Given the description of an element on the screen output the (x, y) to click on. 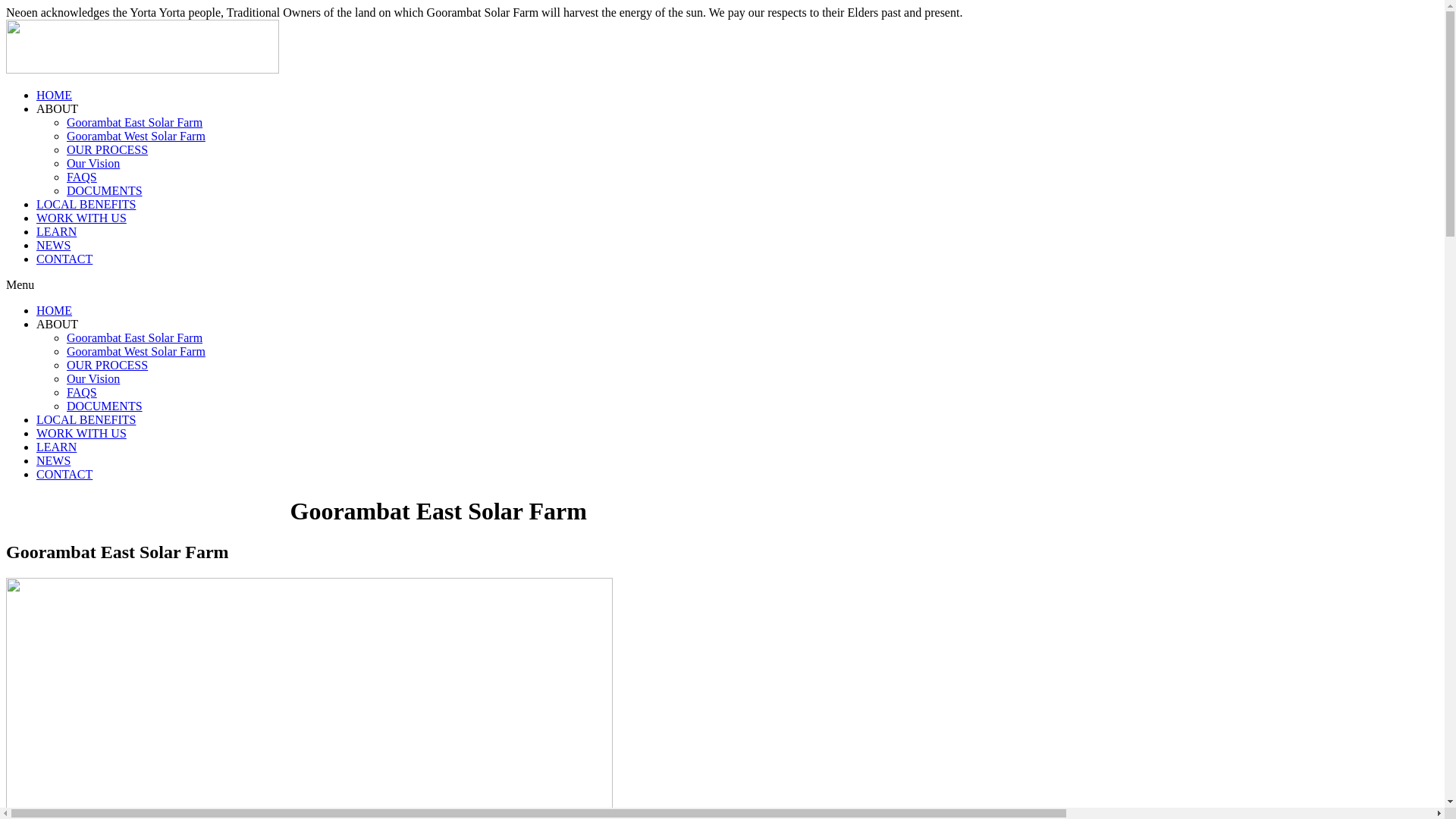
LEARN Element type: text (56, 231)
FAQS Element type: text (81, 176)
NEWS Element type: text (53, 460)
Goorambat East Solar Farm Element type: text (134, 122)
WORK WITH US Element type: text (81, 217)
NEWS Element type: text (53, 244)
Goorambat East Solar Farm Element type: text (134, 337)
ABOUT Element type: text (57, 323)
LOCAL BENEFITS Element type: text (85, 419)
WORK WITH US Element type: text (81, 432)
LOCAL BENEFITS Element type: text (85, 203)
Our Vision Element type: text (92, 162)
Our Vision Element type: text (92, 378)
CONTACT Element type: text (64, 473)
LEARN Element type: text (56, 446)
DOCUMENTS Element type: text (104, 405)
Goorambat West Solar Farm Element type: text (135, 135)
CONTACT Element type: text (64, 258)
OUR PROCESS Element type: text (106, 149)
HOME Element type: text (54, 94)
FAQS Element type: text (81, 391)
HOME Element type: text (54, 310)
DOCUMENTS Element type: text (104, 190)
Goorambat West Solar Farm Element type: text (135, 351)
ABOUT Element type: text (57, 108)
OUR PROCESS Element type: text (106, 364)
Skip to content Element type: text (6, 6)
